Given the description of an element on the screen output the (x, y) to click on. 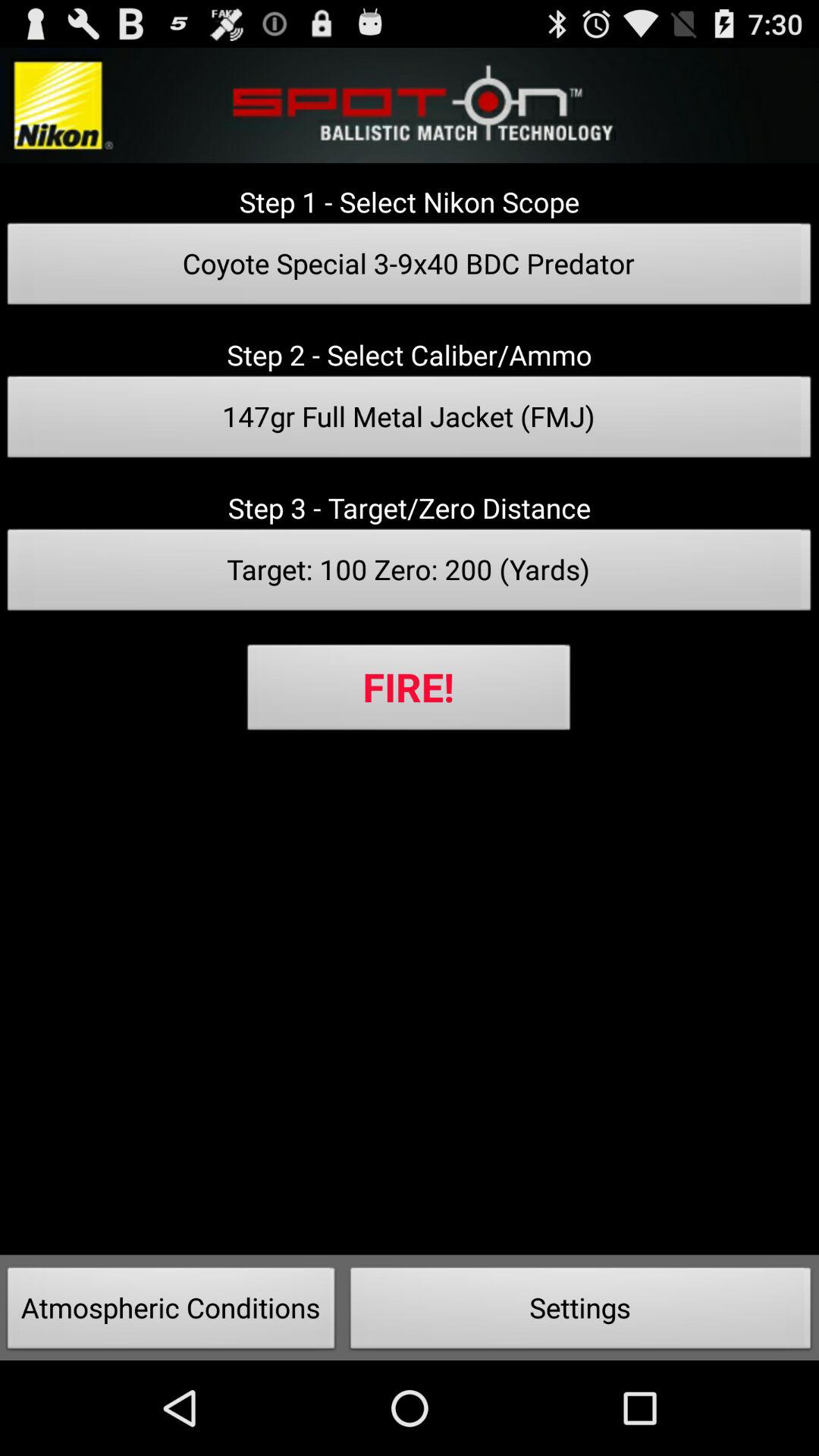
press the button next to the settings button (171, 1312)
